Given the description of an element on the screen output the (x, y) to click on. 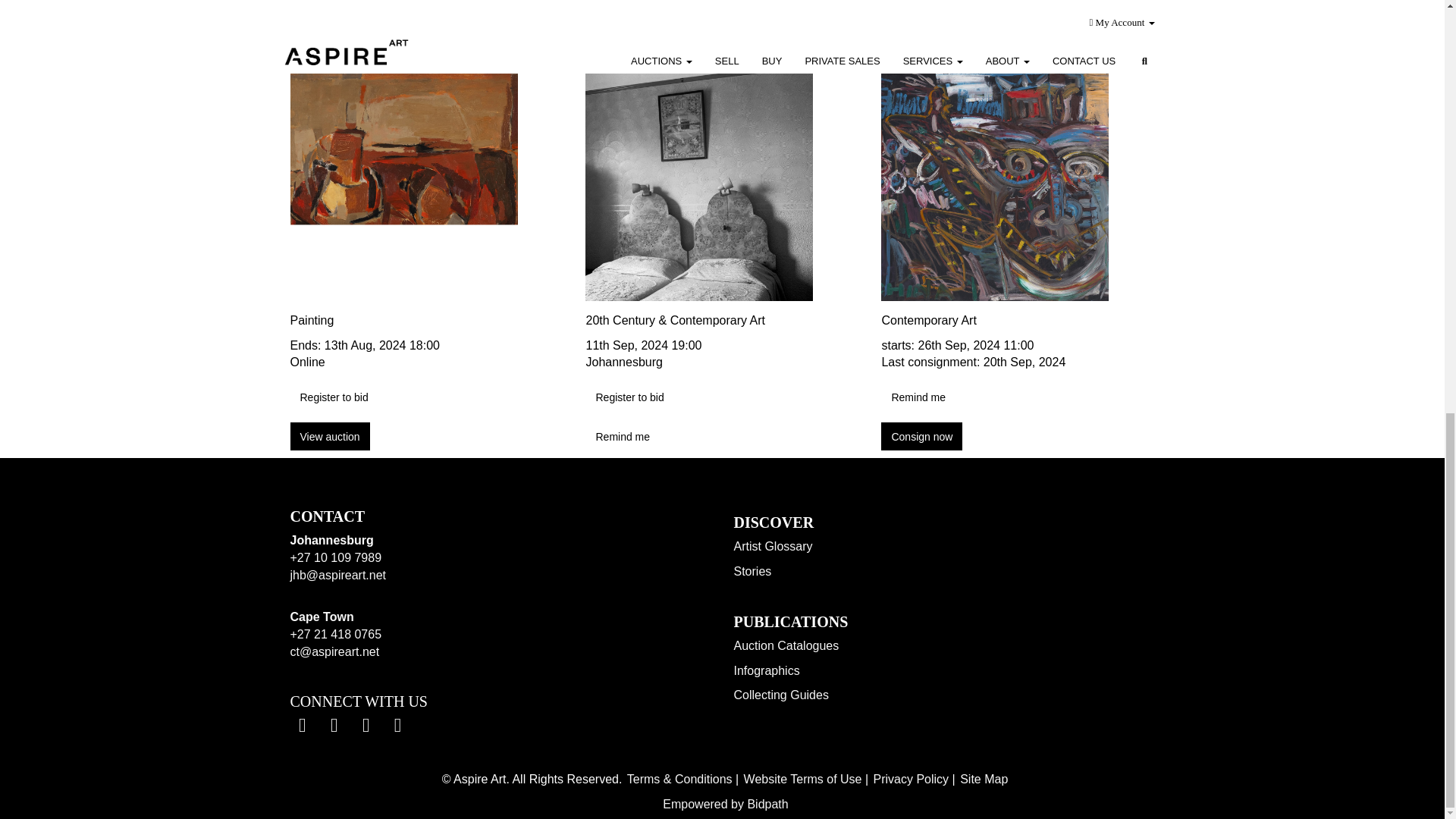
Website Terms of Use (801, 779)
Go to our youtube page (367, 727)
Go to our facebook page (303, 727)
Site Map (982, 779)
Privacy Policy (910, 779)
Go to our instagram page (399, 727)
Go to our linked in page (335, 727)
Painting (425, 321)
